Given the description of an element on the screen output the (x, y) to click on. 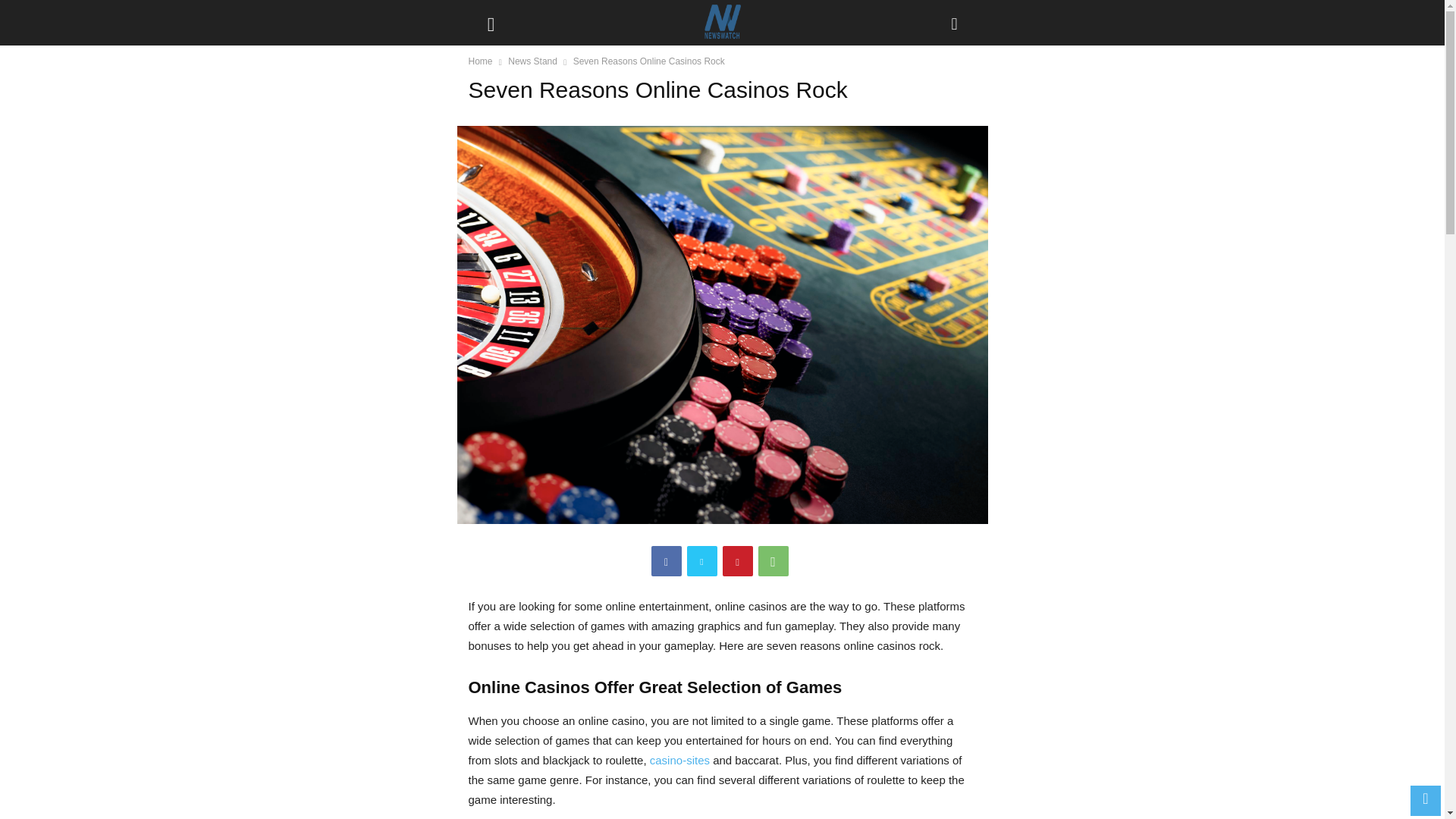
Pinterest (737, 561)
Twitter (702, 561)
News Stand (532, 61)
NewsWatch (721, 22)
WhatsApp (773, 561)
Home (480, 61)
casino-sites (679, 759)
NewsWatch (722, 22)
View all posts in News Stand (532, 61)
Facebook (665, 561)
